Given the description of an element on the screen output the (x, y) to click on. 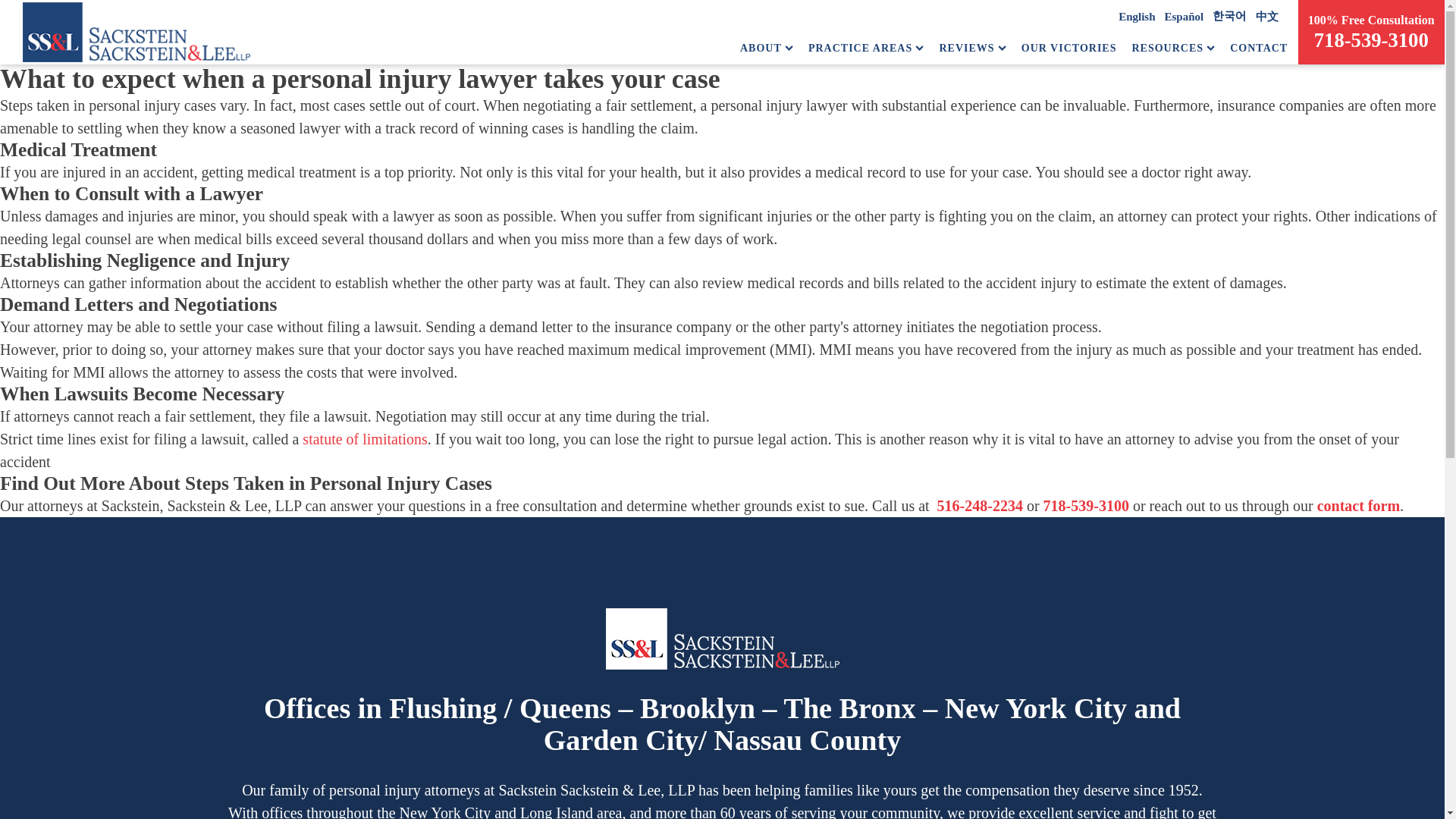
CONTACT (1258, 48)
RESOURCES (1172, 48)
ABOUT (766, 48)
PRACTICE AREAS (866, 48)
English (1136, 16)
OUR VICTORIES (1069, 48)
REVIEWS (972, 48)
718-539-3100 (1371, 40)
